Given the description of an element on the screen output the (x, y) to click on. 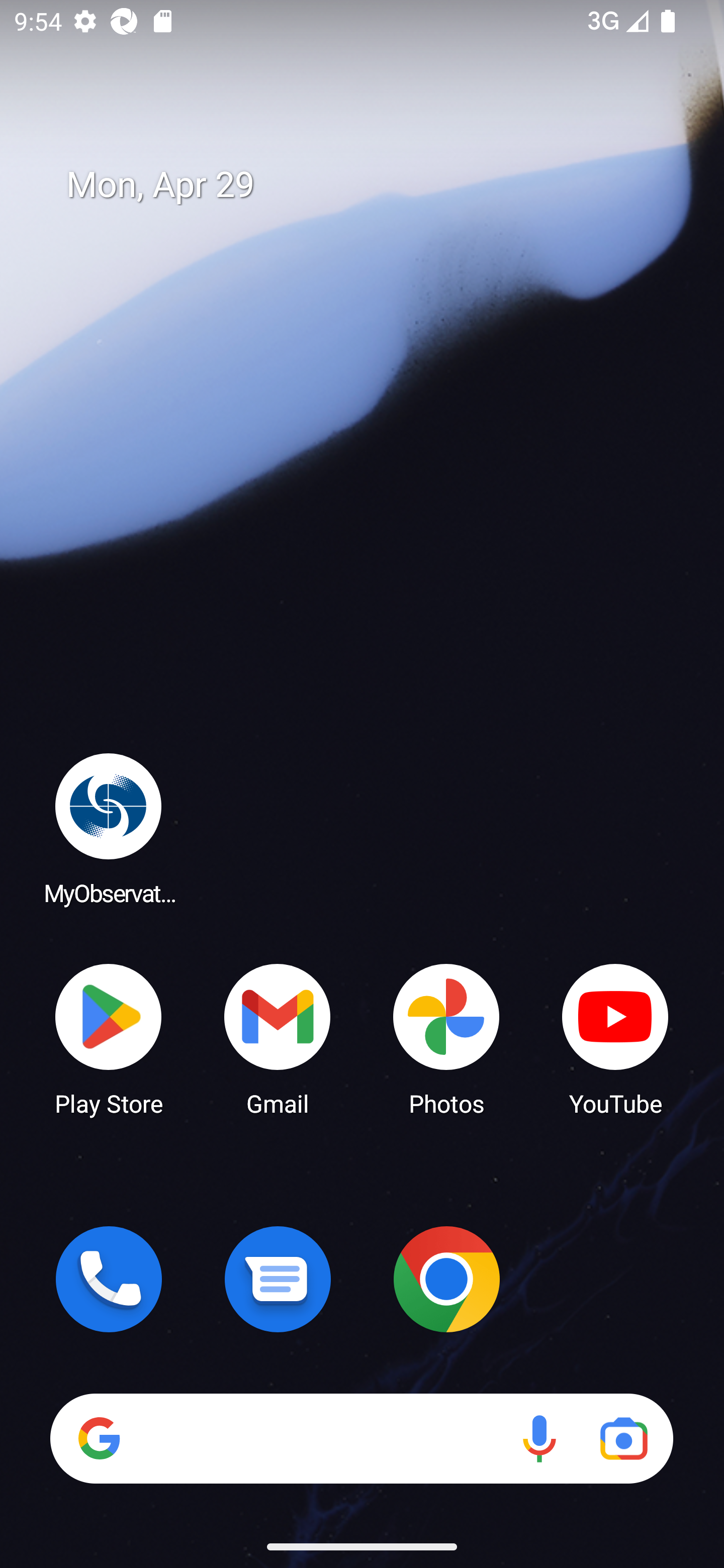
Mon, Apr 29 (375, 184)
MyObservatory (108, 828)
Play Store (108, 1038)
Gmail (277, 1038)
Photos (445, 1038)
YouTube (615, 1038)
Phone (108, 1279)
Messages (277, 1279)
Chrome (446, 1279)
Voice search (539, 1438)
Google Lens (623, 1438)
